Given the description of an element on the screen output the (x, y) to click on. 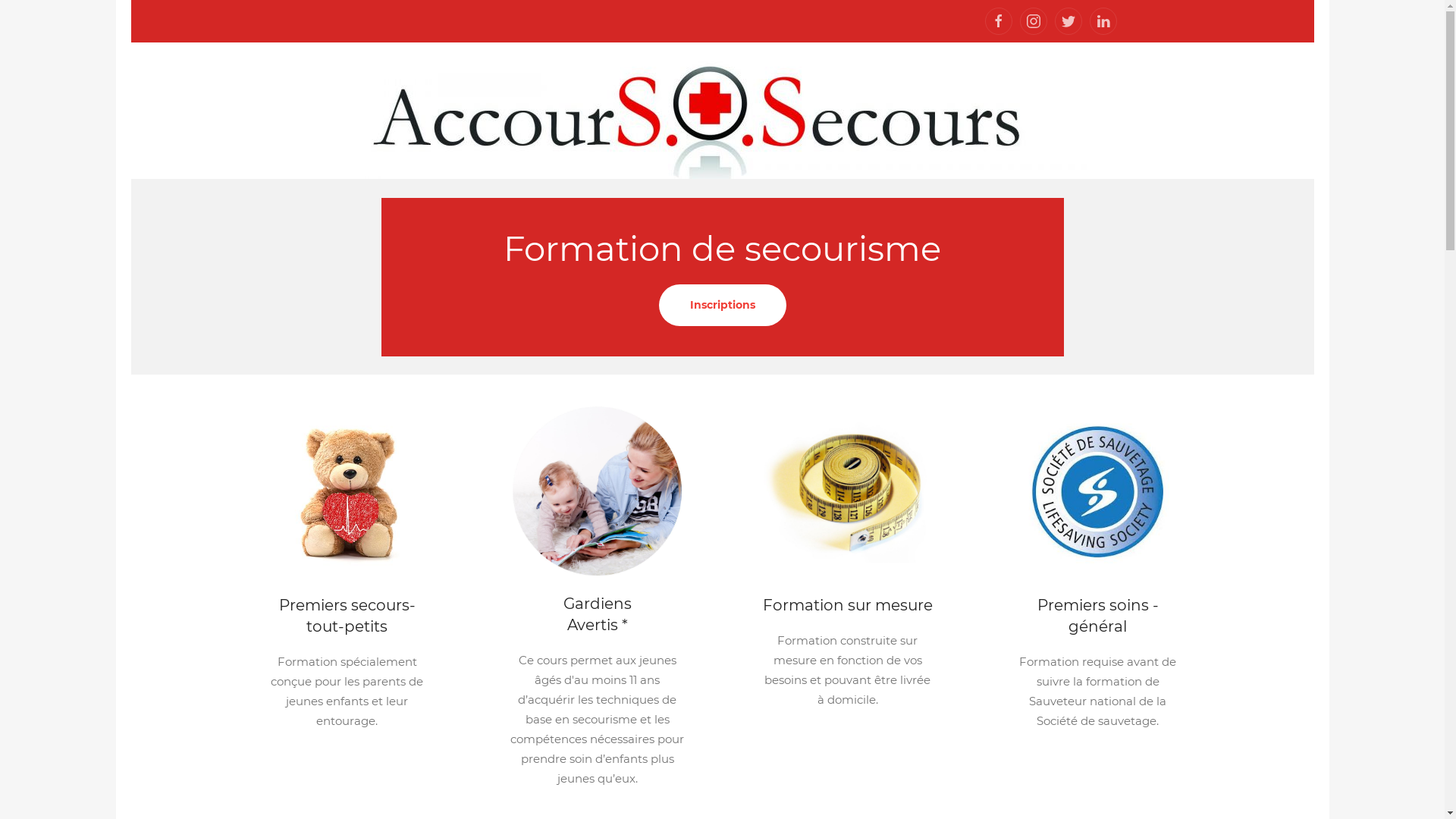
Inscriptions Element type: text (721, 304)
